Given the description of an element on the screen output the (x, y) to click on. 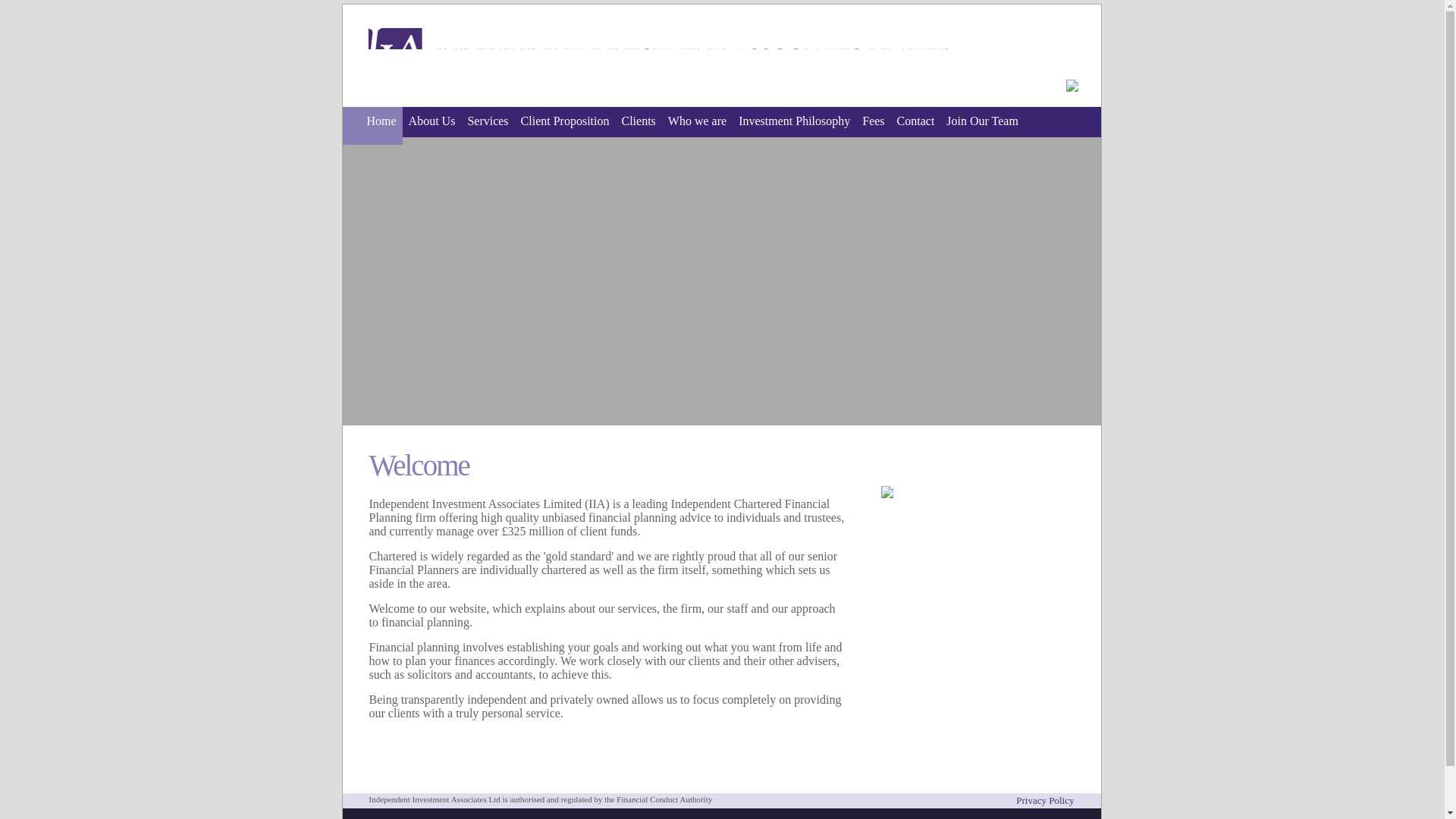
Clients (638, 125)
Join Our Team (983, 125)
Services (487, 125)
Fees (872, 125)
Contact (915, 125)
About Us (432, 125)
Investment Philosophy (794, 125)
Home (372, 125)
Privacy Policy (1045, 799)
Who we are (697, 125)
Client Proposition (565, 125)
